Given the description of an element on the screen output the (x, y) to click on. 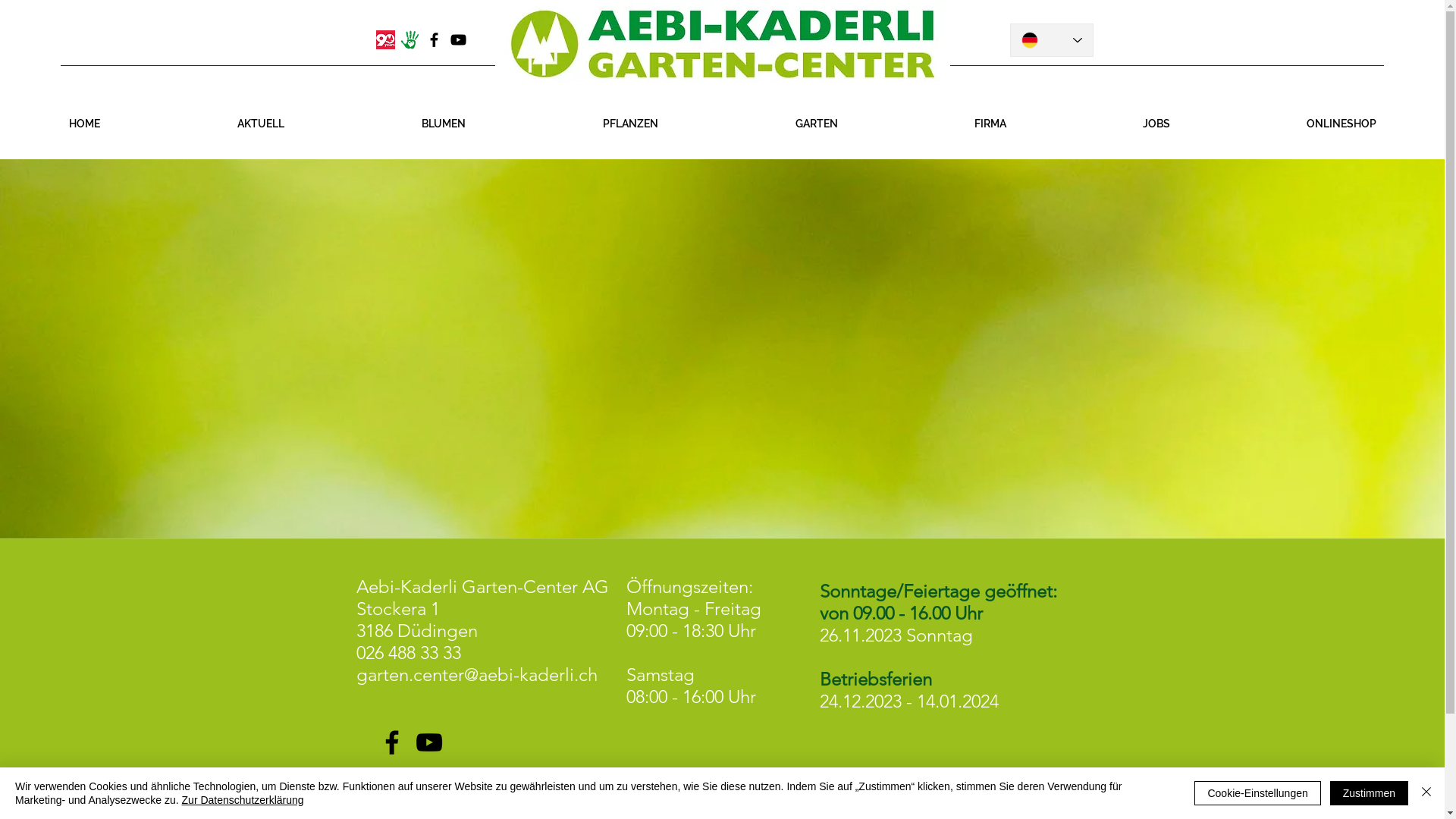
ONLINESHOP Element type: text (1341, 123)
garten.center@aebi-kaderli.ch Element type: text (476, 674)
PFLANZEN Element type: text (629, 123)
GARTEN Element type: text (816, 123)
JOBS Element type: text (1156, 123)
HOME Element type: text (84, 123)
AKTUELL Element type: text (260, 123)
BLUMEN Element type: text (442, 123)
FIRMA Element type: text (990, 123)
